Given the description of an element on the screen output the (x, y) to click on. 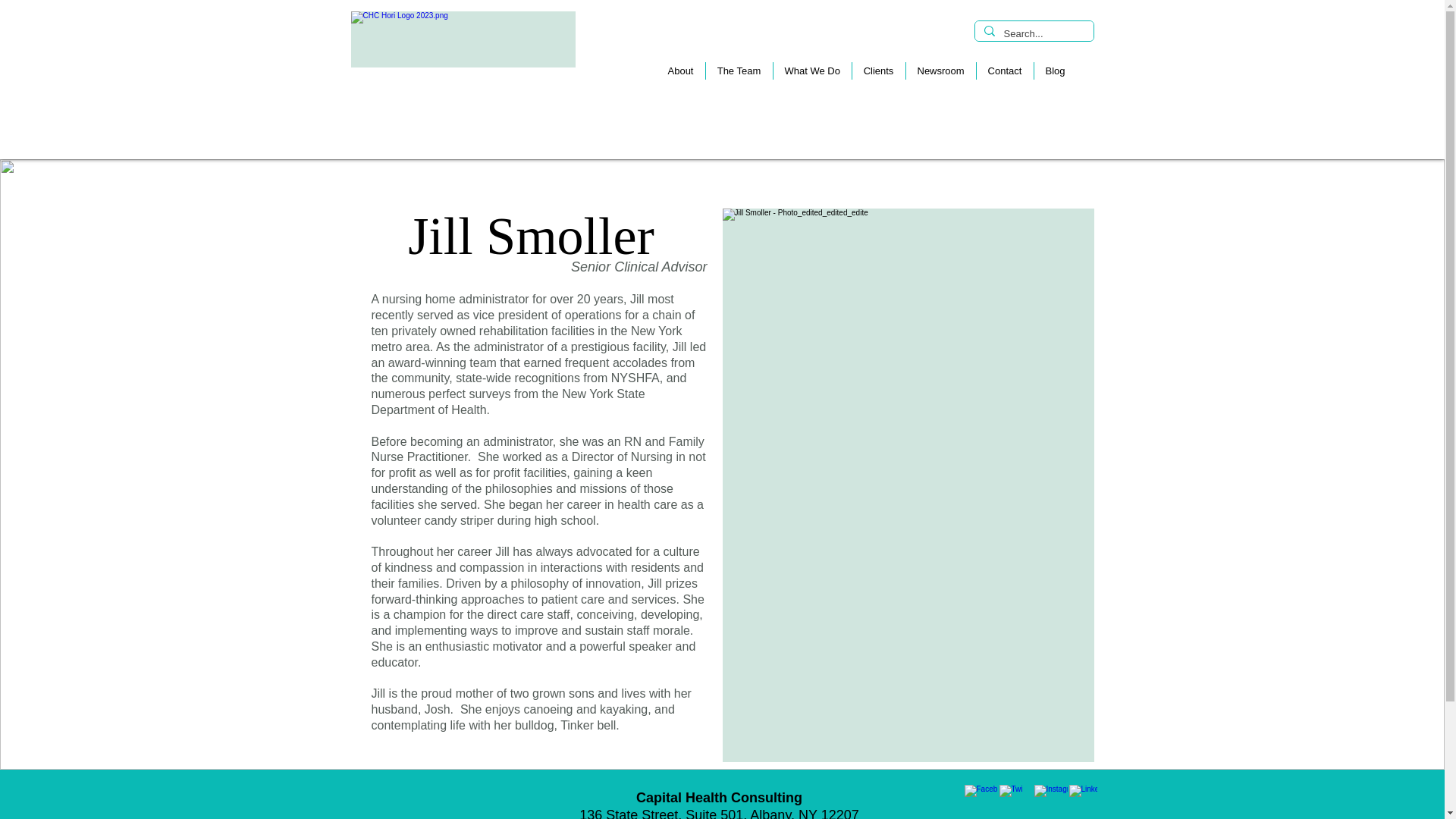
Blog (1053, 70)
What We Do (810, 70)
The Team (738, 70)
Newsroom (940, 70)
Clients (877, 70)
About (680, 70)
Contact (1003, 70)
